Given the description of an element on the screen output the (x, y) to click on. 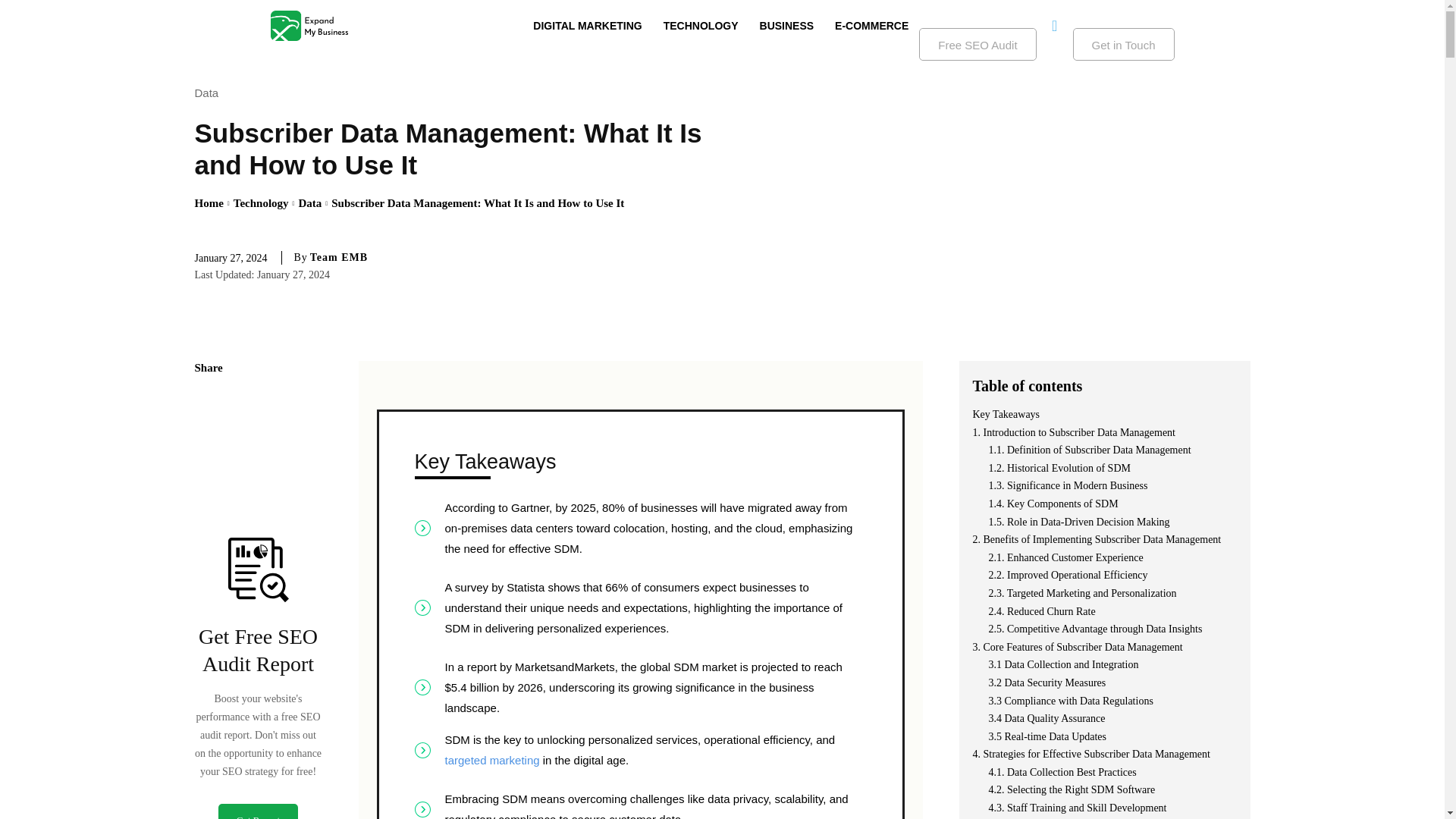
Expand My Business (308, 25)
Get in Touch (1123, 43)
Free SEO Audit (977, 43)
View all posts in Data (309, 203)
Home (207, 203)
Data (209, 92)
targeted marketing (491, 759)
Free SEO Audit (977, 43)
BUSINESS (787, 25)
Data (309, 203)
Technology (260, 203)
Get Report (258, 811)
E-COMMERCE (871, 25)
Get in Touch (1123, 43)
DIGITAL MARKETING (587, 25)
